Given the description of an element on the screen output the (x, y) to click on. 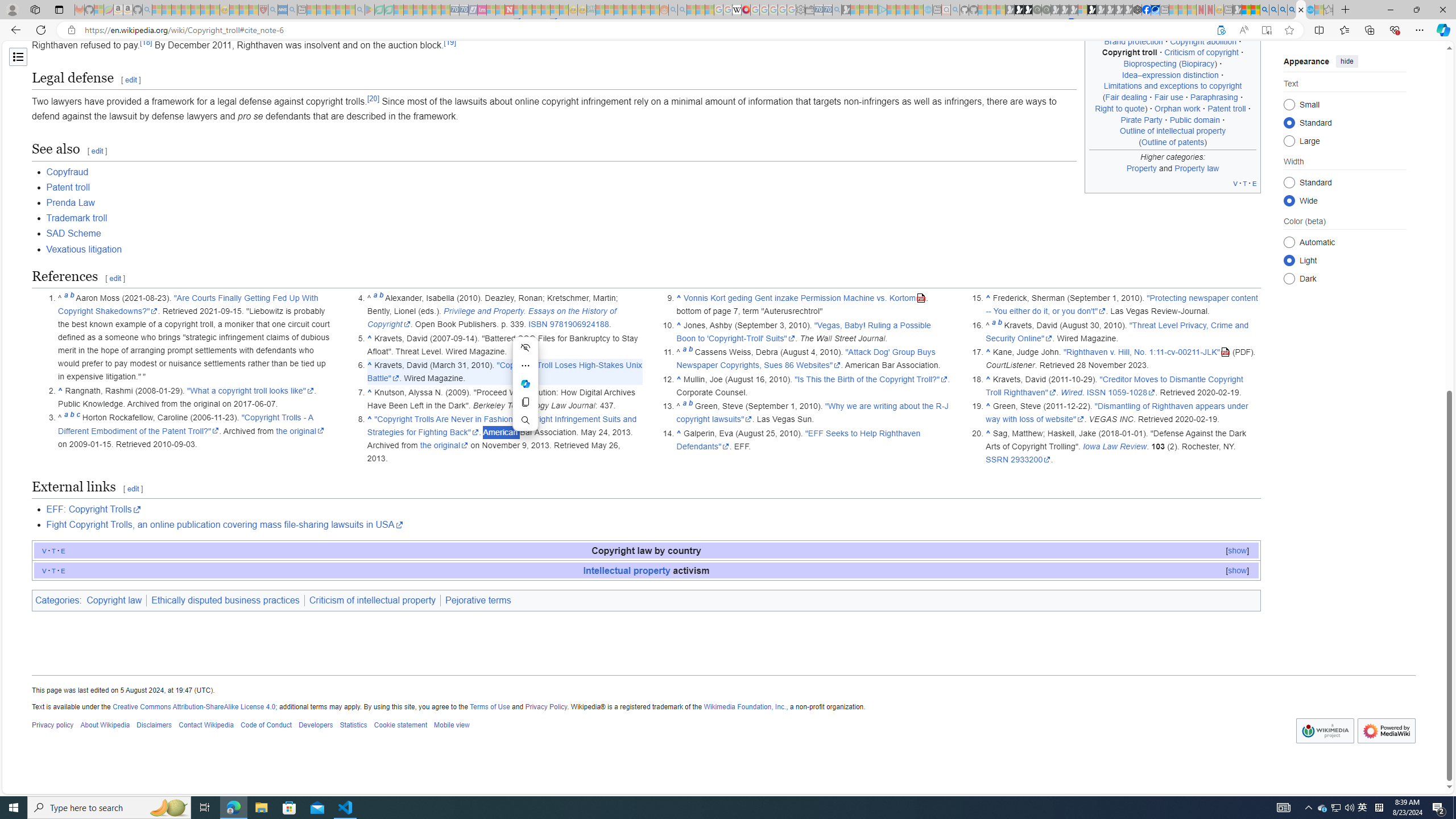
"Creditor Moves to Dismantle Copyright Troll Righthaven" (1114, 385)
Automatic (1289, 241)
edit (132, 488)
c (77, 417)
utah sues federal government - Search - Sleeping (291, 9)
Vexatious litigation (653, 249)
"Threat Level Privacy, Crime and Security Online" (1117, 331)
Bluey: Let's Play! - Apps on Google Play - Sleeping (369, 9)
